Given the description of an element on the screen output the (x, y) to click on. 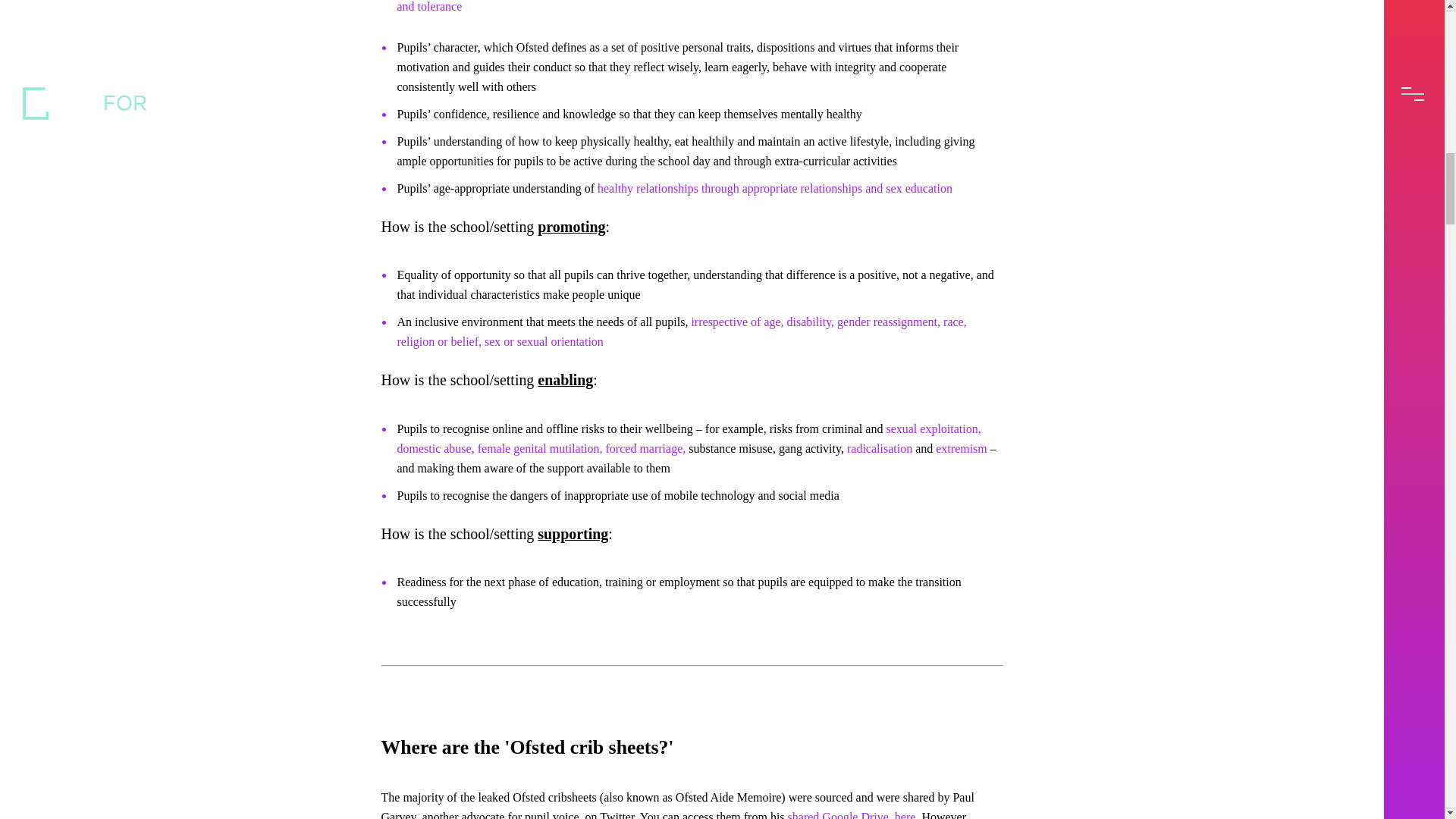
extremism (961, 448)
radicalisation (879, 448)
shared Google Drive, here. (852, 814)
